Given the description of an element on the screen output the (x, y) to click on. 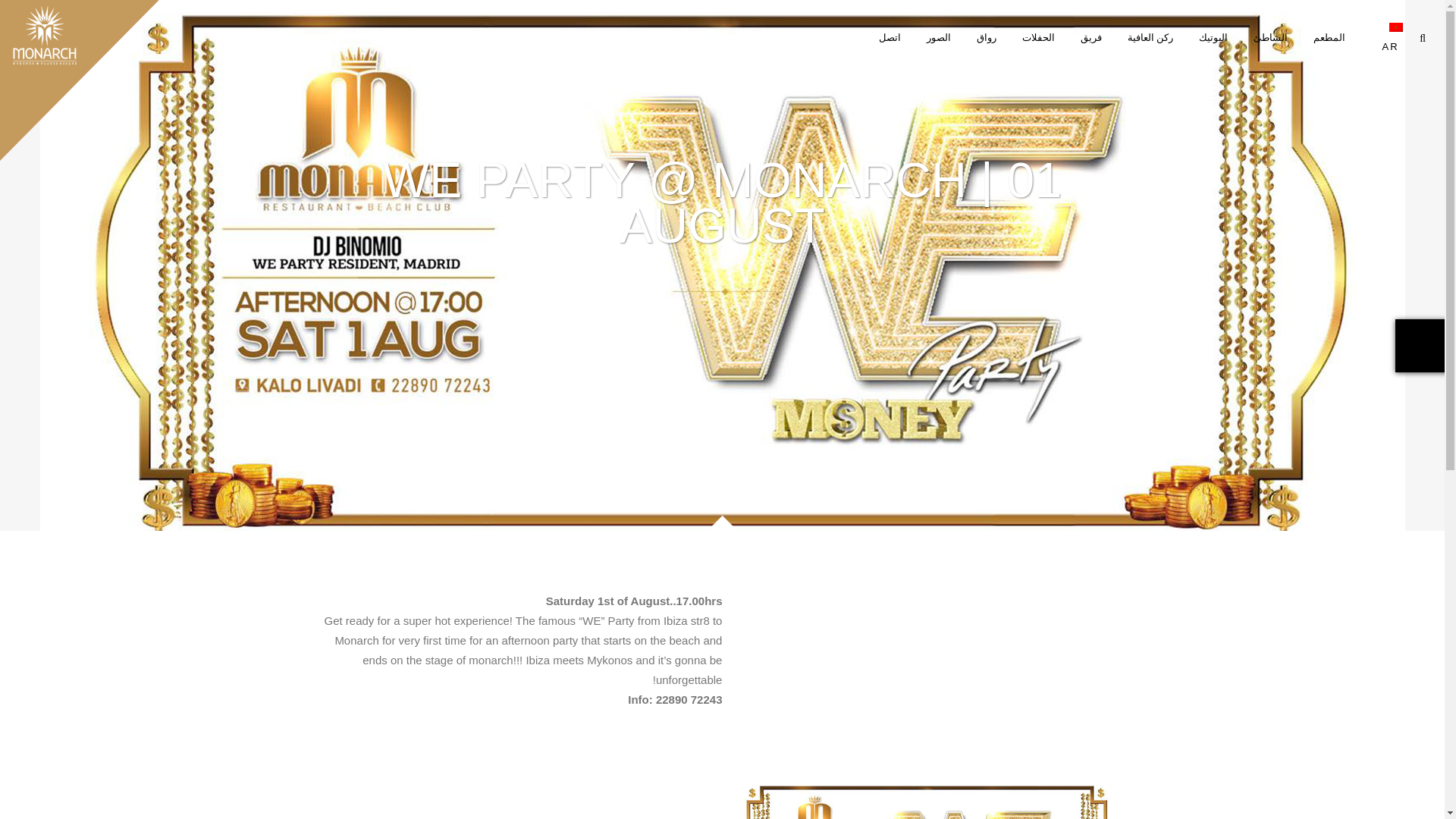
 AR (1385, 37)
AR (1396, 26)
